Given the description of an element on the screen output the (x, y) to click on. 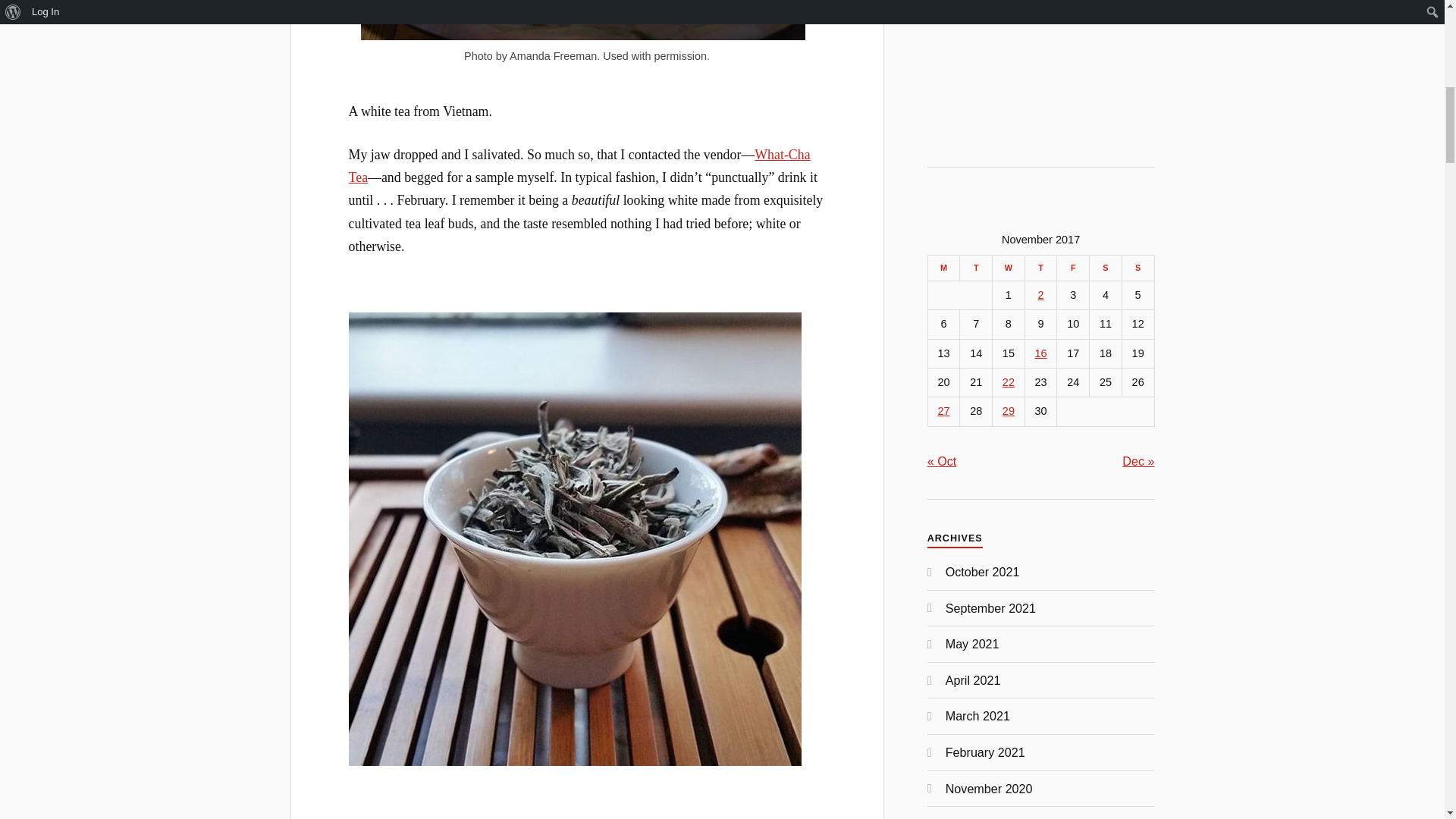
Tuesday (975, 267)
Saturday (1105, 267)
Wednesday (1008, 267)
Sunday (1137, 267)
What-Cha Tea (579, 166)
Thursday (1041, 267)
Monday (943, 267)
Friday (1073, 267)
